Given the description of an element on the screen output the (x, y) to click on. 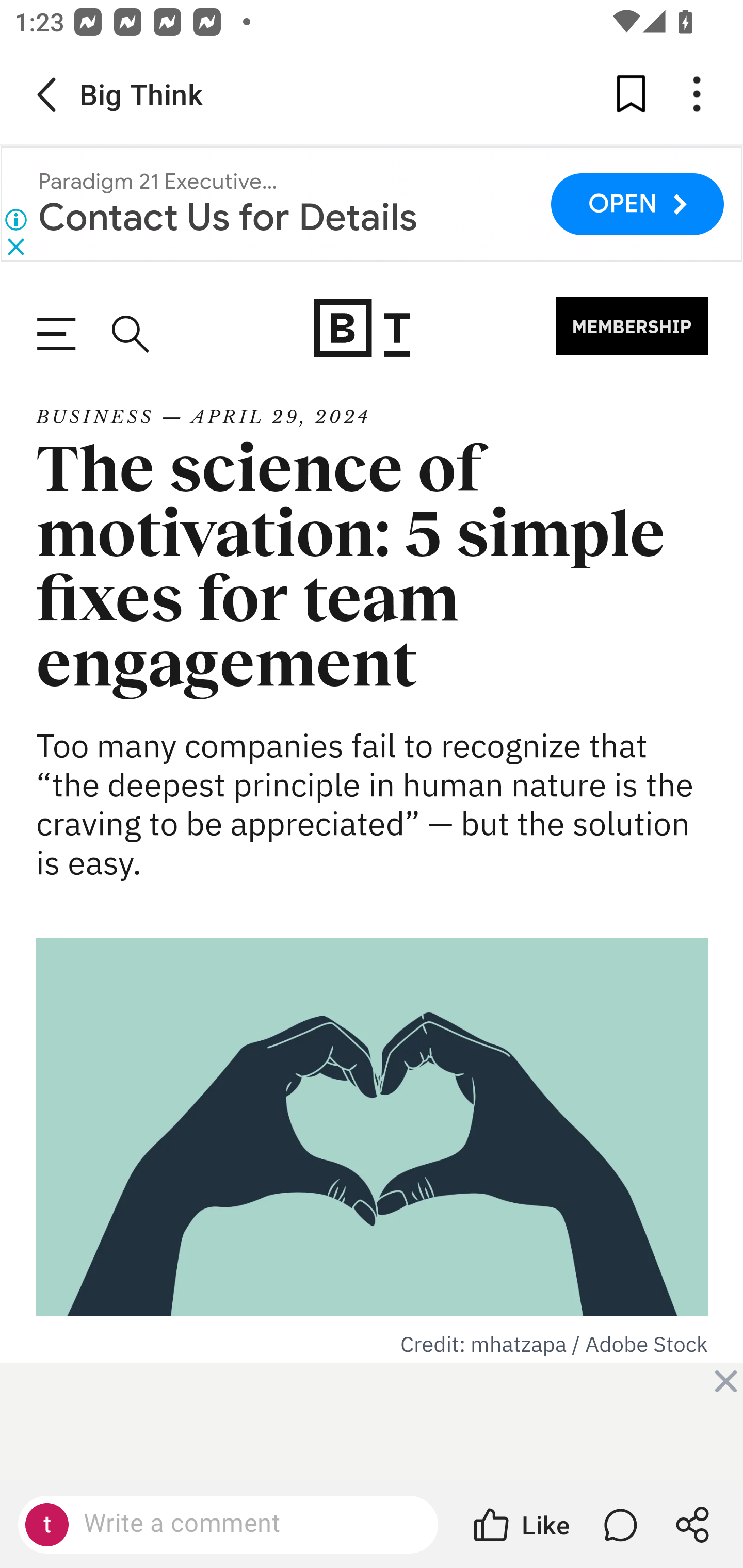
Paradigm 21 Executive… (157, 181)
OPEN (636, 204)
Contact Us for Details (227, 216)
MEMBERSHIP (631, 324)
bigthink (362, 327)
Search (128, 333)
Toggle navigation menu (55, 334)
BUSINESS (95, 416)
Close Advertisement (725, 1380)
Like (519, 1524)
Write a comment (227, 1524)
Write a comment (245, 1523)
